Given the description of an element on the screen output the (x, y) to click on. 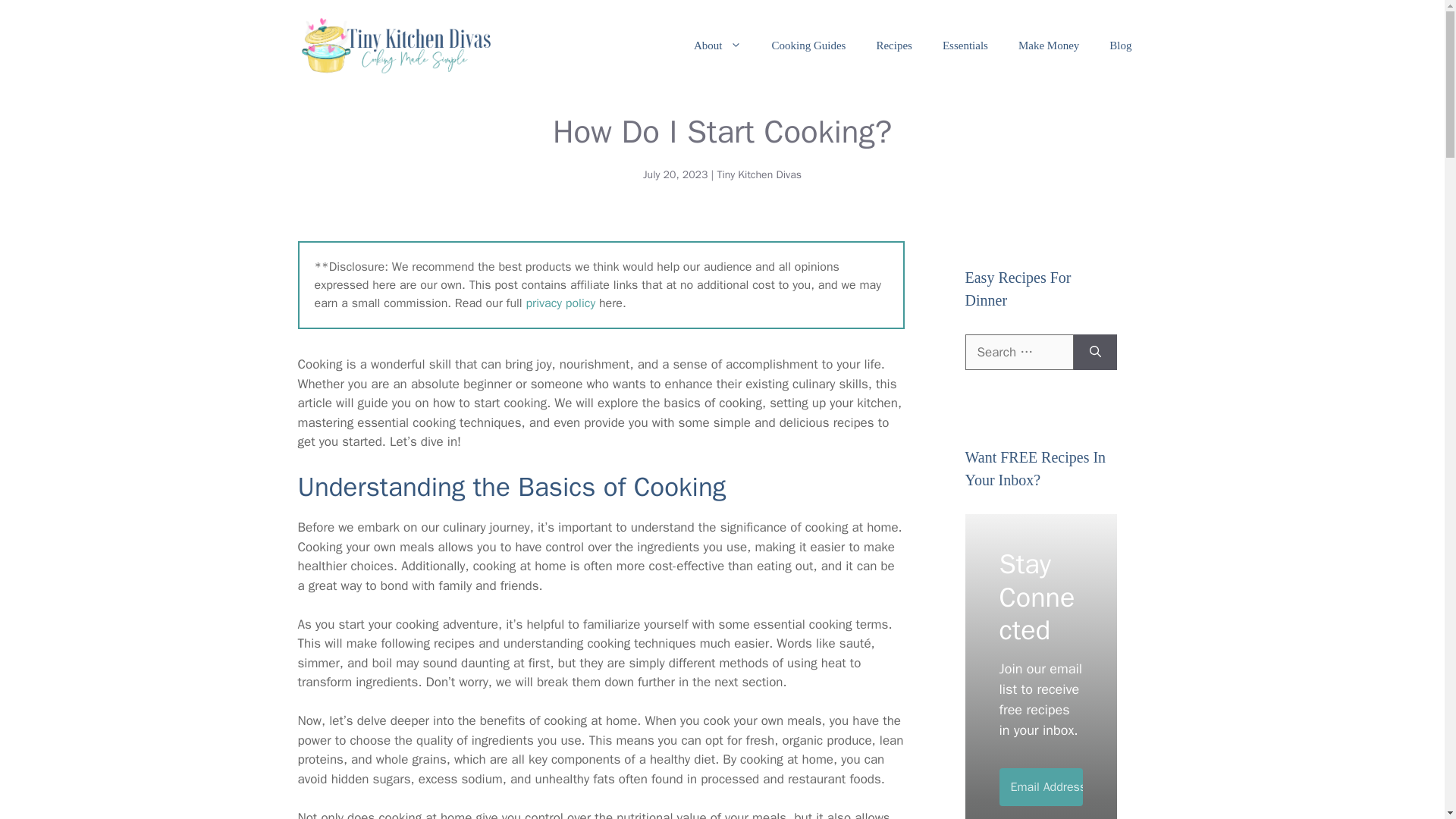
About (717, 44)
Cooking Guides (809, 44)
Tiny Kitchen Divas (759, 174)
Make Money (1048, 44)
privacy policy (560, 303)
View all posts by Tiny Kitchen Divas (759, 174)
Search for: (1018, 352)
Recipes (893, 44)
Blog (1120, 44)
Essentials (965, 44)
